Given the description of an element on the screen output the (x, y) to click on. 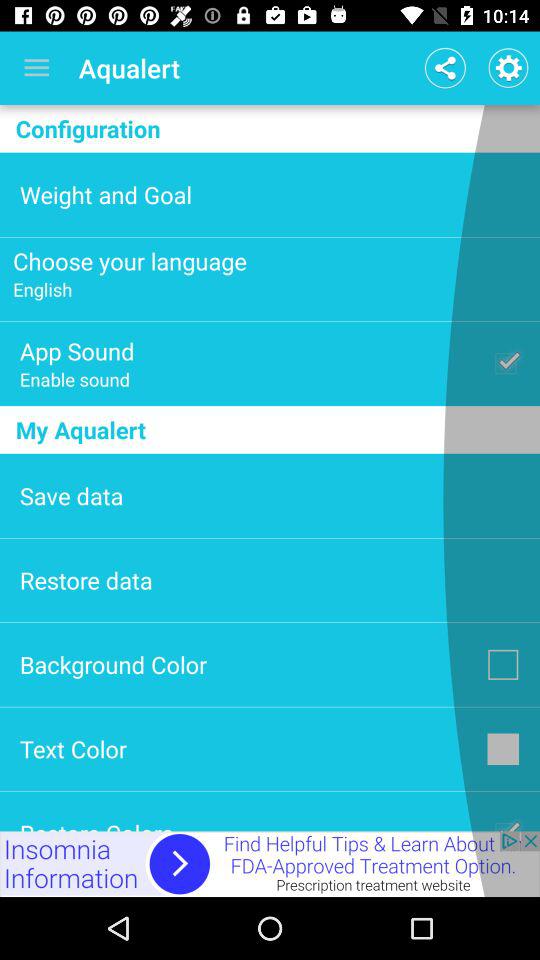
advertisement (270, 864)
